Given the description of an element on the screen output the (x, y) to click on. 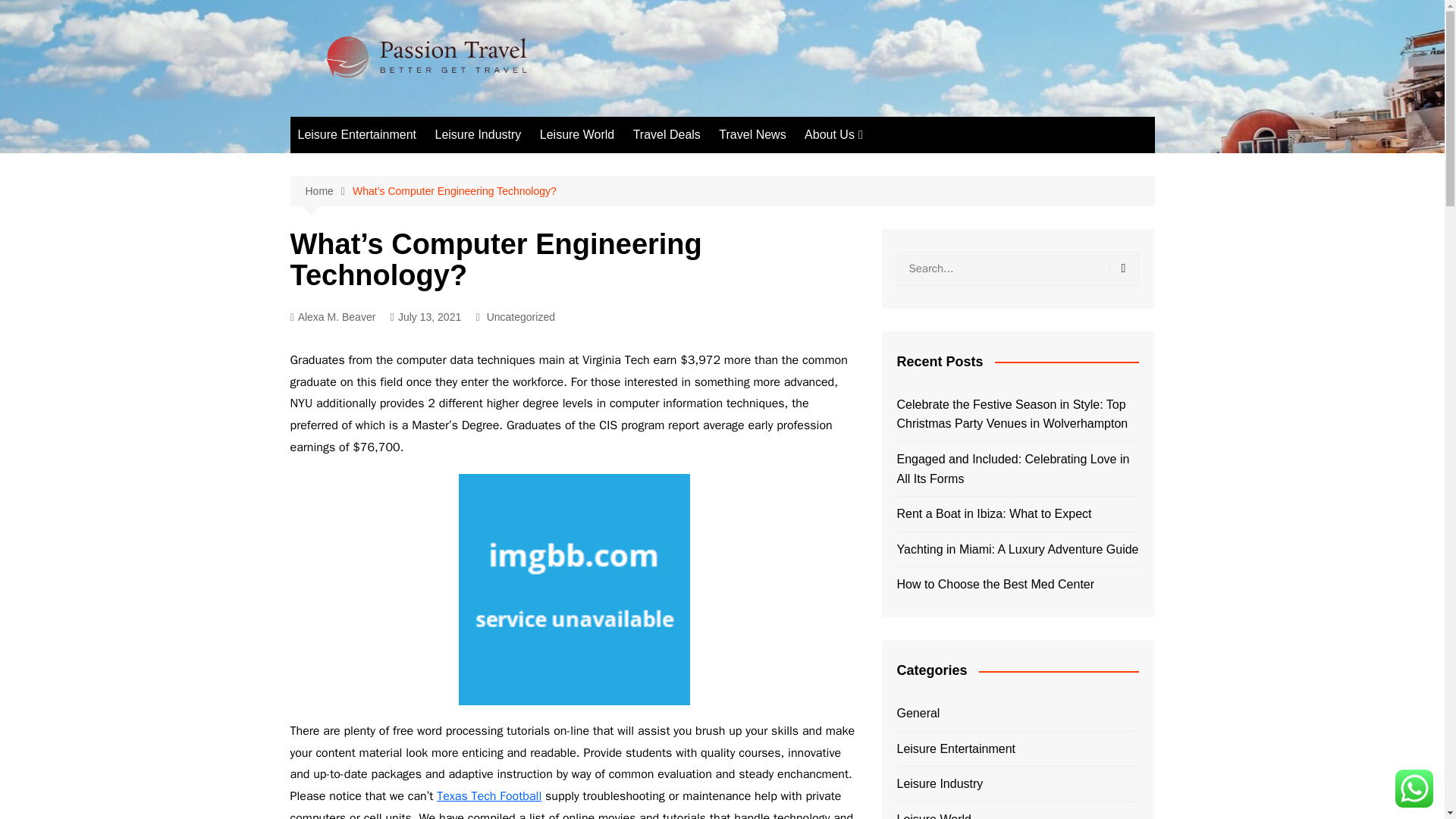
Sitemap (879, 240)
Leisure Entertainment (356, 135)
Texas Tech Football (488, 795)
Travel Deals (666, 135)
Leisure Industry (477, 135)
Alexa M. Beaver (332, 316)
Advertise Here (879, 165)
About Us (833, 135)
Privacy Policy (879, 215)
Home (328, 190)
Contact Us (879, 190)
July 13, 2021 (425, 316)
Leisure World (576, 135)
Travel News (752, 135)
